Given the description of an element on the screen output the (x, y) to click on. 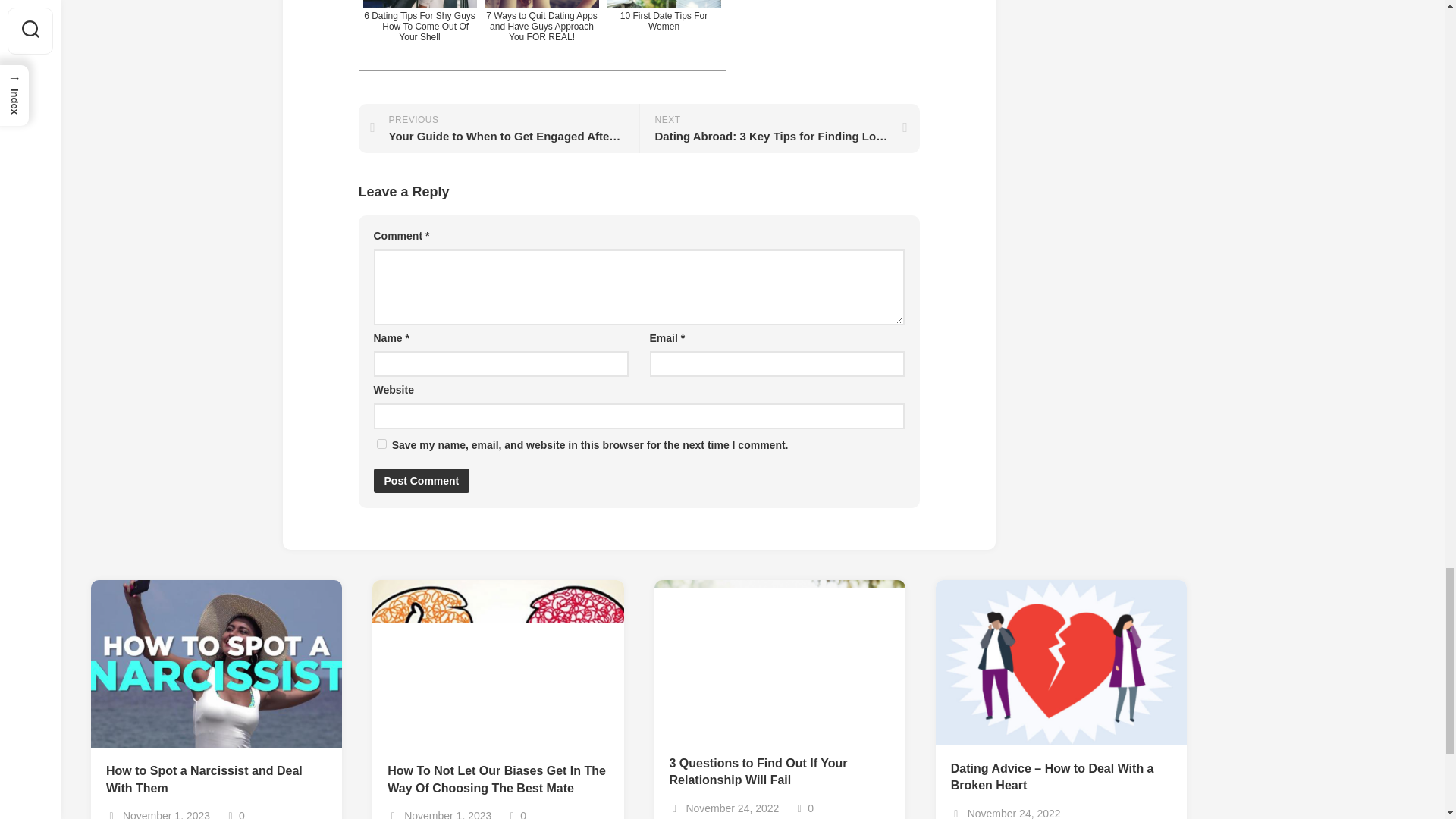
yes (380, 443)
How to Spot a Narcissist and Deal With Them (216, 779)
0 (803, 808)
3 Questions to Find Out If Your Relationship Will Fail (778, 772)
0 (234, 814)
Post Comment (420, 480)
